Given the description of an element on the screen output the (x, y) to click on. 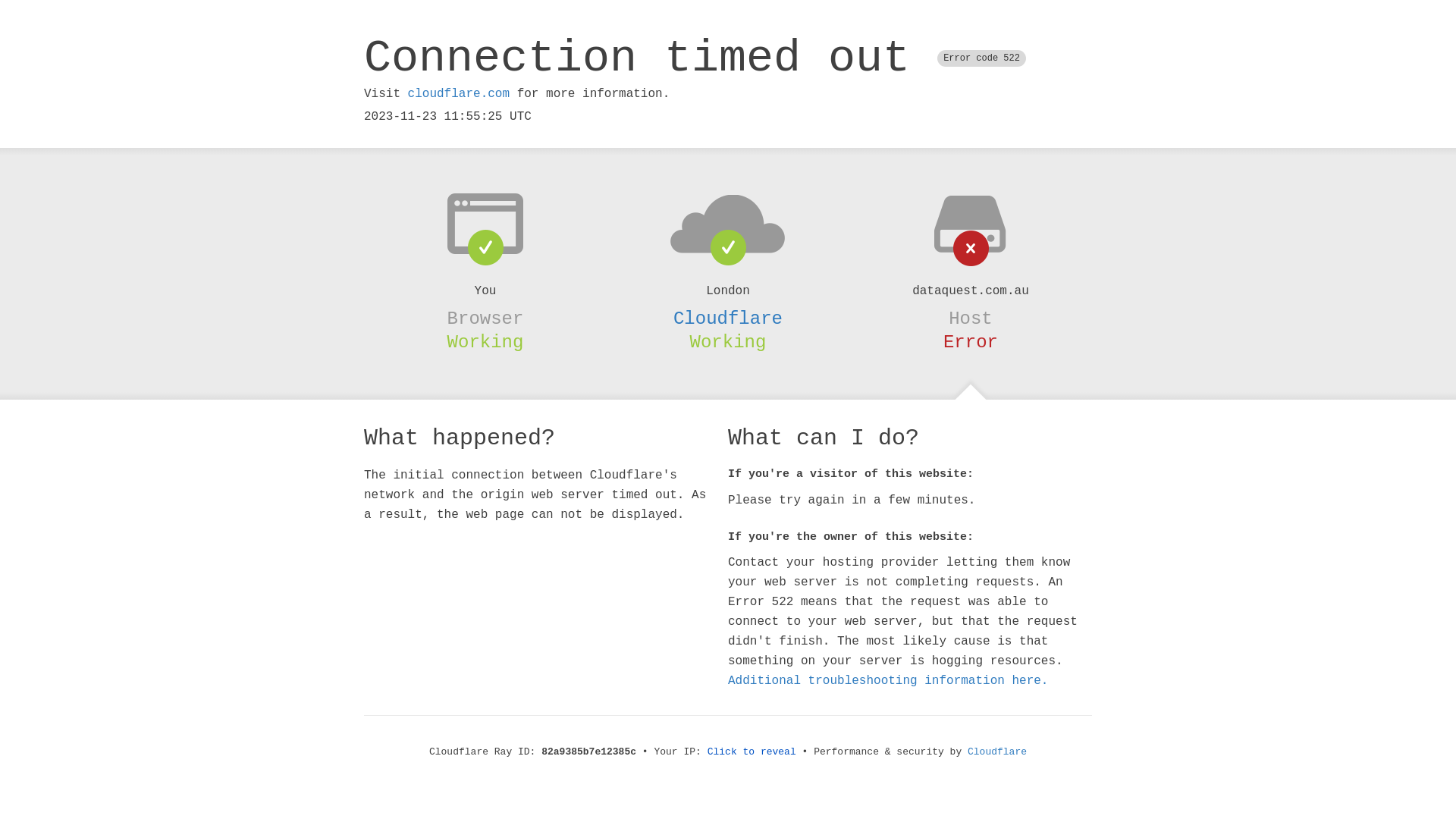
Cloudflare Element type: text (727, 318)
Click to reveal Element type: text (751, 751)
Additional troubleshooting information here. Element type: text (888, 680)
cloudflare.com Element type: text (458, 93)
Cloudflare Element type: text (996, 751)
